Given the description of an element on the screen output the (x, y) to click on. 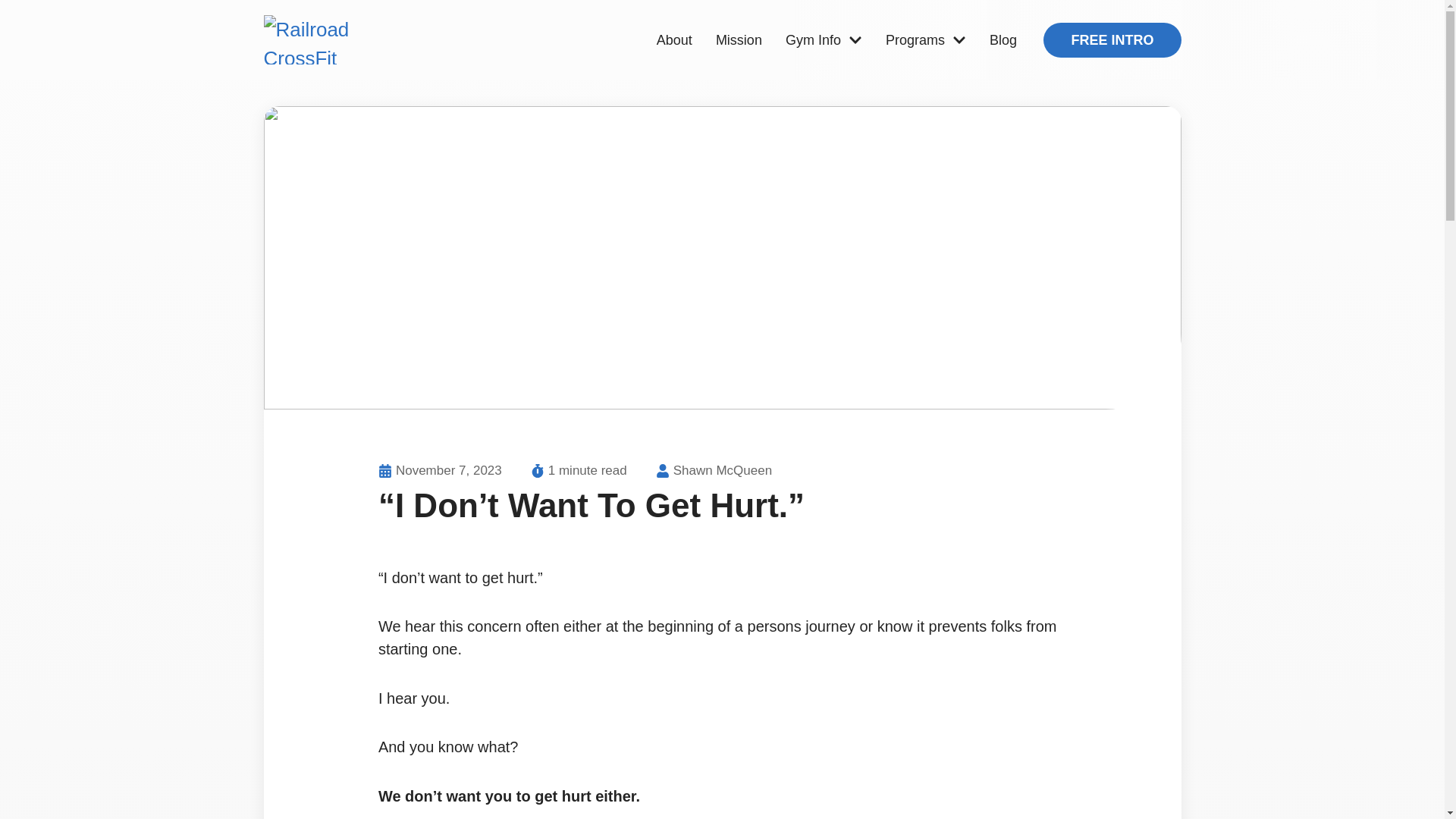
Gym Info (823, 39)
FREE INTRO (1111, 39)
Programs (925, 39)
Blog (1003, 39)
About (674, 39)
Mission (738, 39)
